Given the description of an element on the screen output the (x, y) to click on. 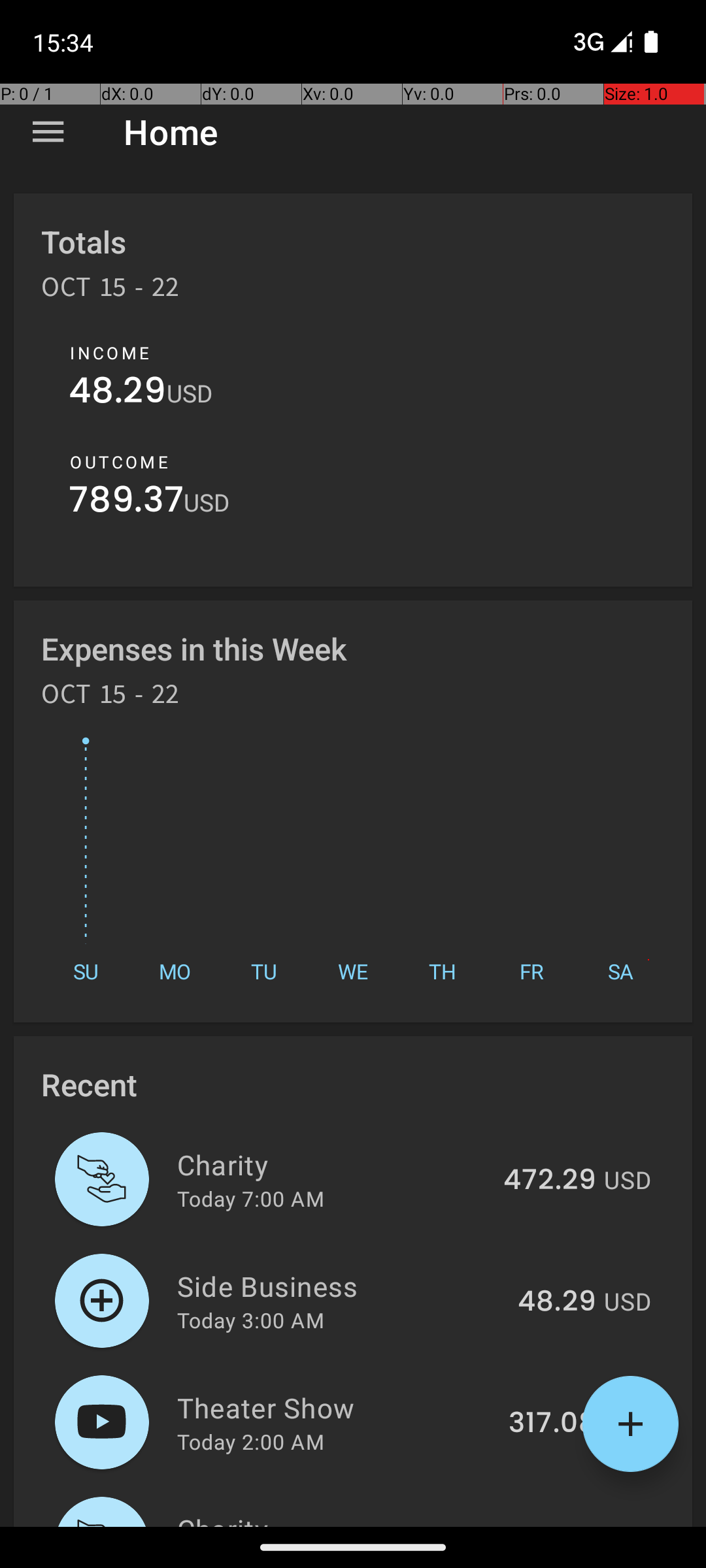
48.29 Element type: android.widget.TextView (117, 393)
789.37 Element type: android.widget.TextView (125, 502)
Charity Element type: android.widget.TextView (332, 1164)
Today 7:00 AM Element type: android.widget.TextView (250, 1198)
472.29 Element type: android.widget.TextView (549, 1180)
Side Business Element type: android.widget.TextView (339, 1285)
Today 3:00 AM Element type: android.widget.TextView (250, 1320)
Theater Show Element type: android.widget.TextView (335, 1407)
Today 2:00 AM Element type: android.widget.TextView (250, 1441)
317.08 Element type: android.widget.TextView (551, 1423)
299.04 Element type: android.widget.TextView (547, 1524)
